Given the description of an element on the screen output the (x, y) to click on. 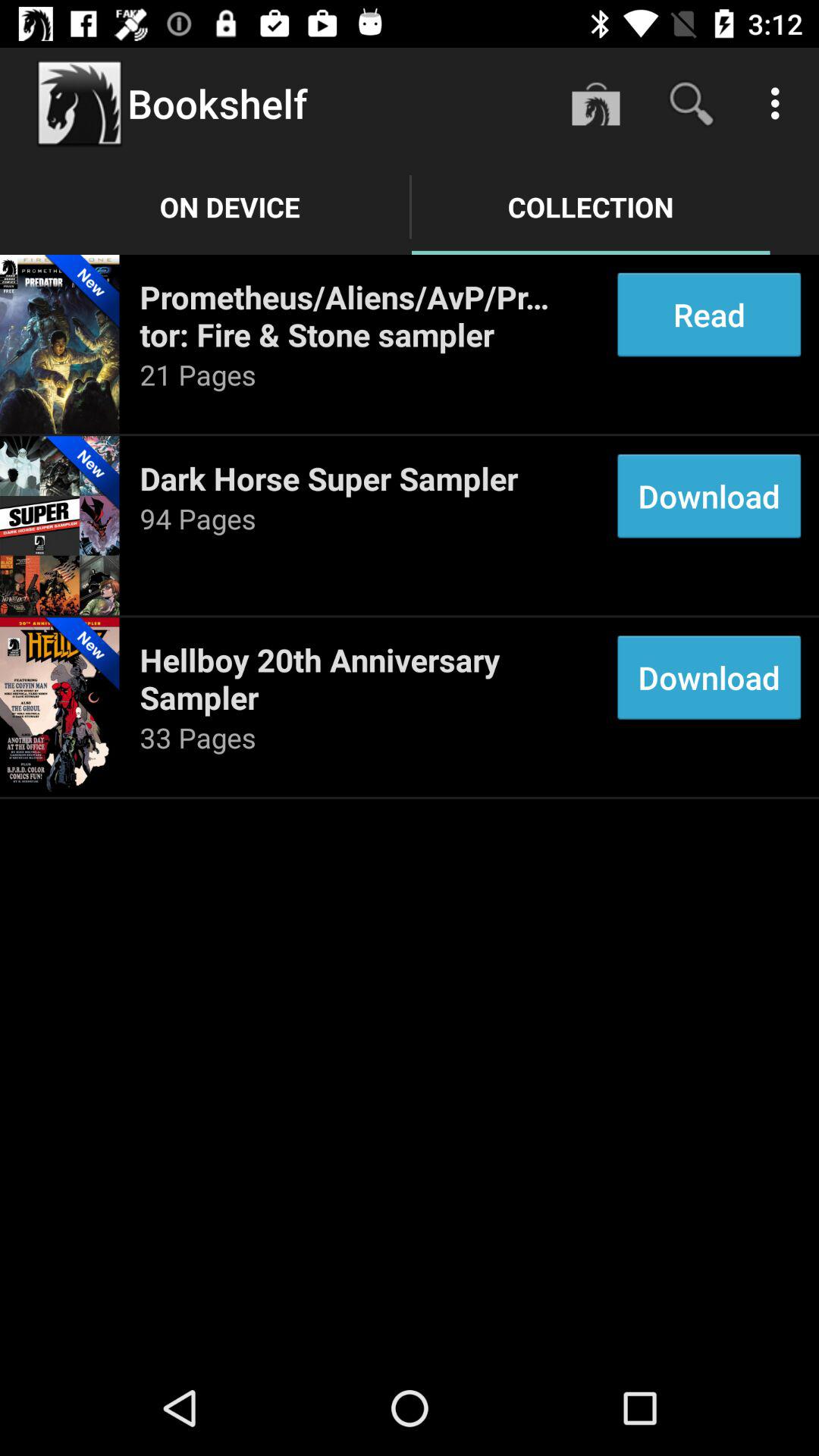
jump until the read icon (708, 314)
